Given the description of an element on the screen output the (x, y) to click on. 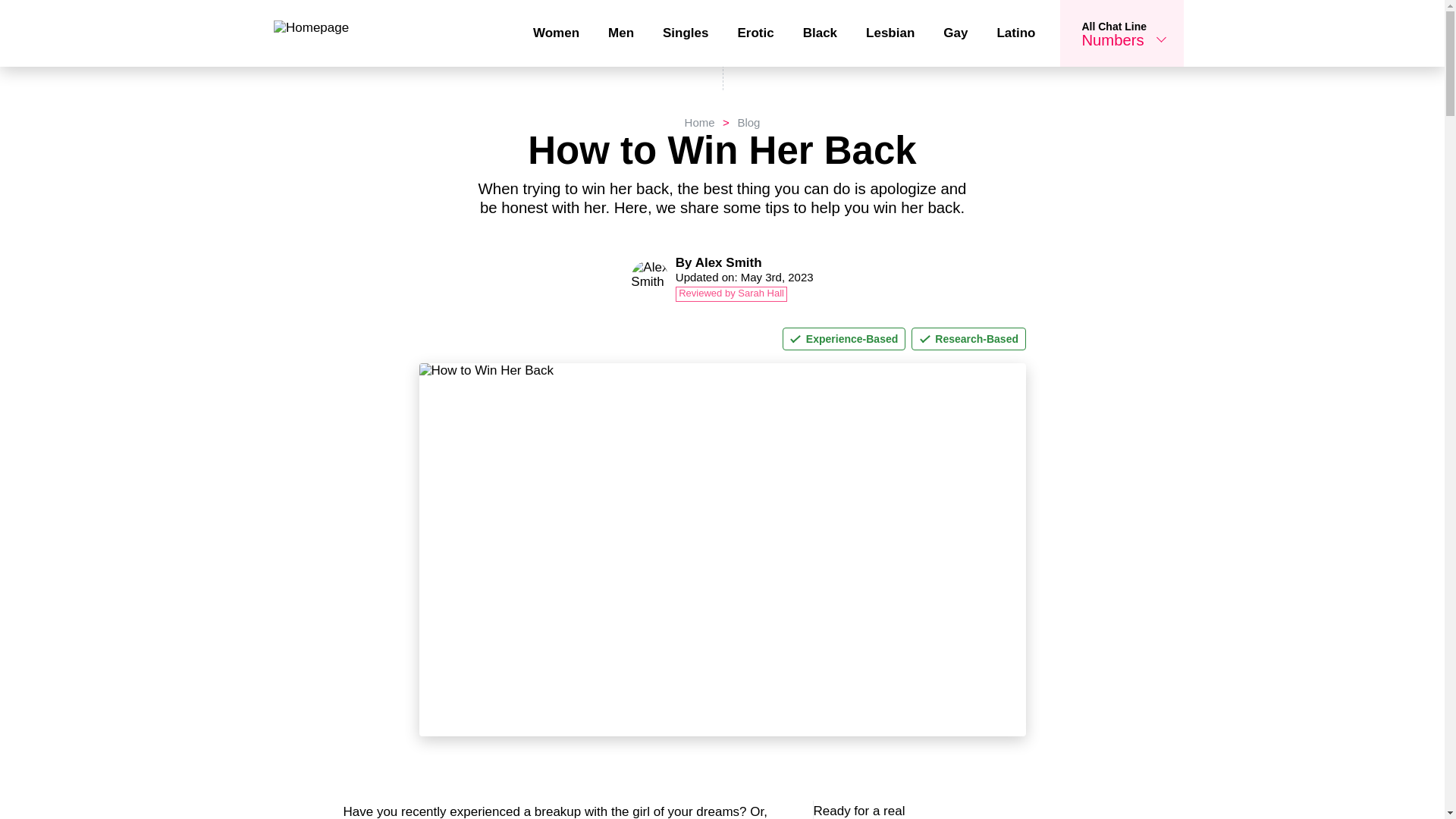
Gay (954, 32)
Blog (737, 122)
Men (1121, 33)
Women (620, 32)
By Alex Smith (556, 32)
Erotic (744, 263)
Black (754, 32)
Home (820, 32)
Latino (699, 122)
Singles (1015, 32)
Lesbian (684, 32)
